Given the description of an element on the screen output the (x, y) to click on. 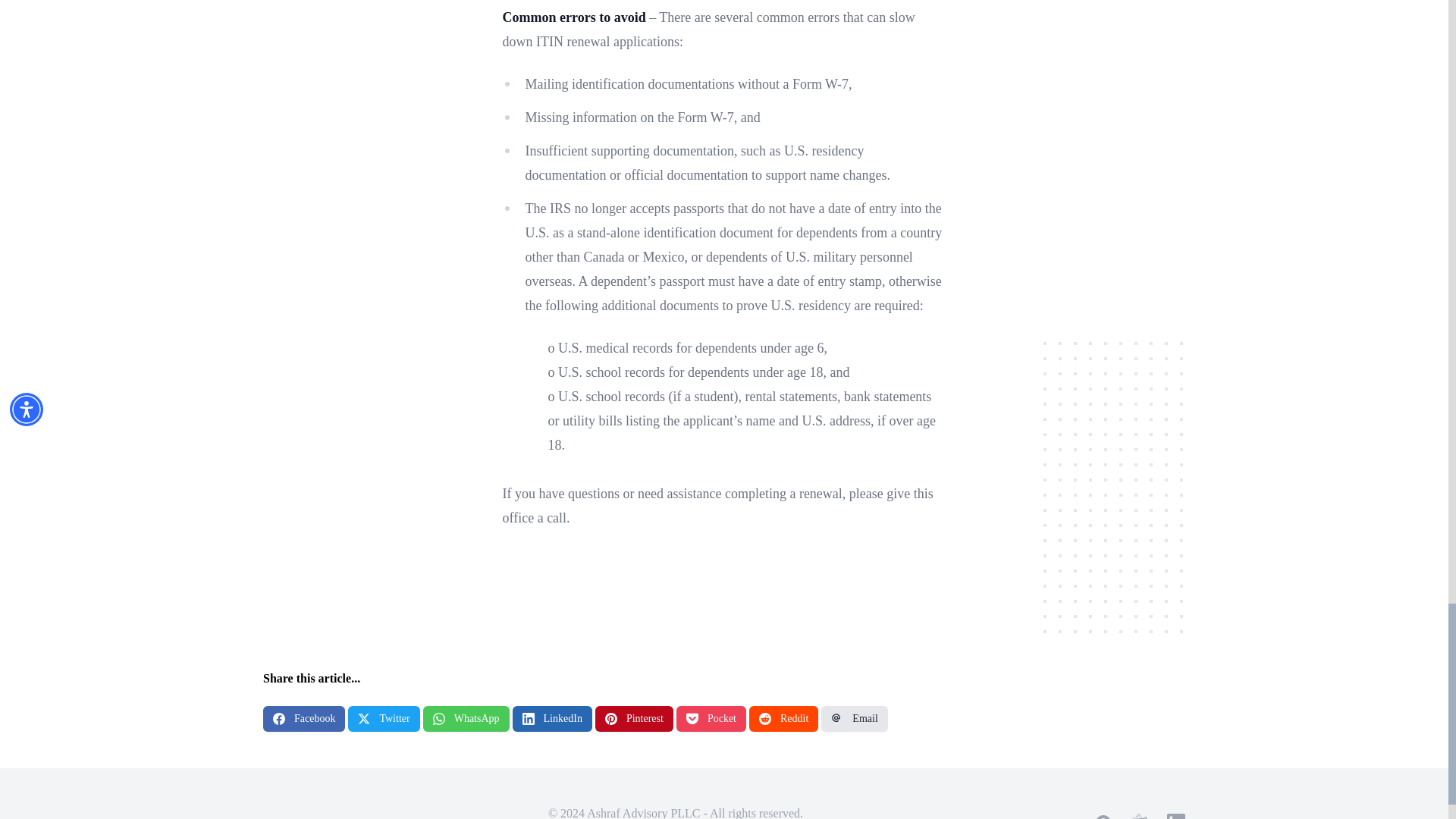
Facebook (304, 718)
